Given the description of an element on the screen output the (x, y) to click on. 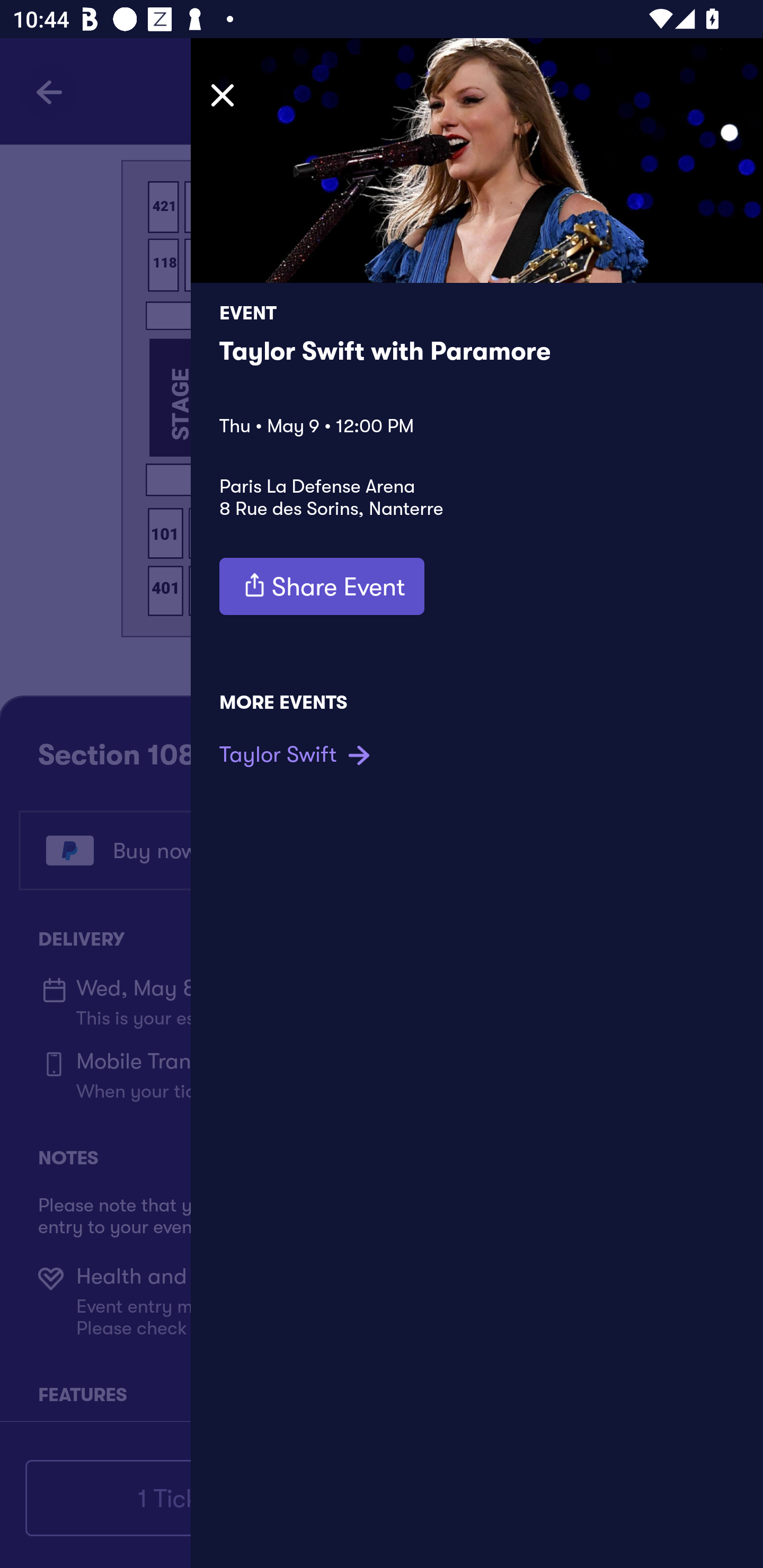
Share Event (321, 586)
Taylor Swift (297, 753)
